Given the description of an element on the screen output the (x, y) to click on. 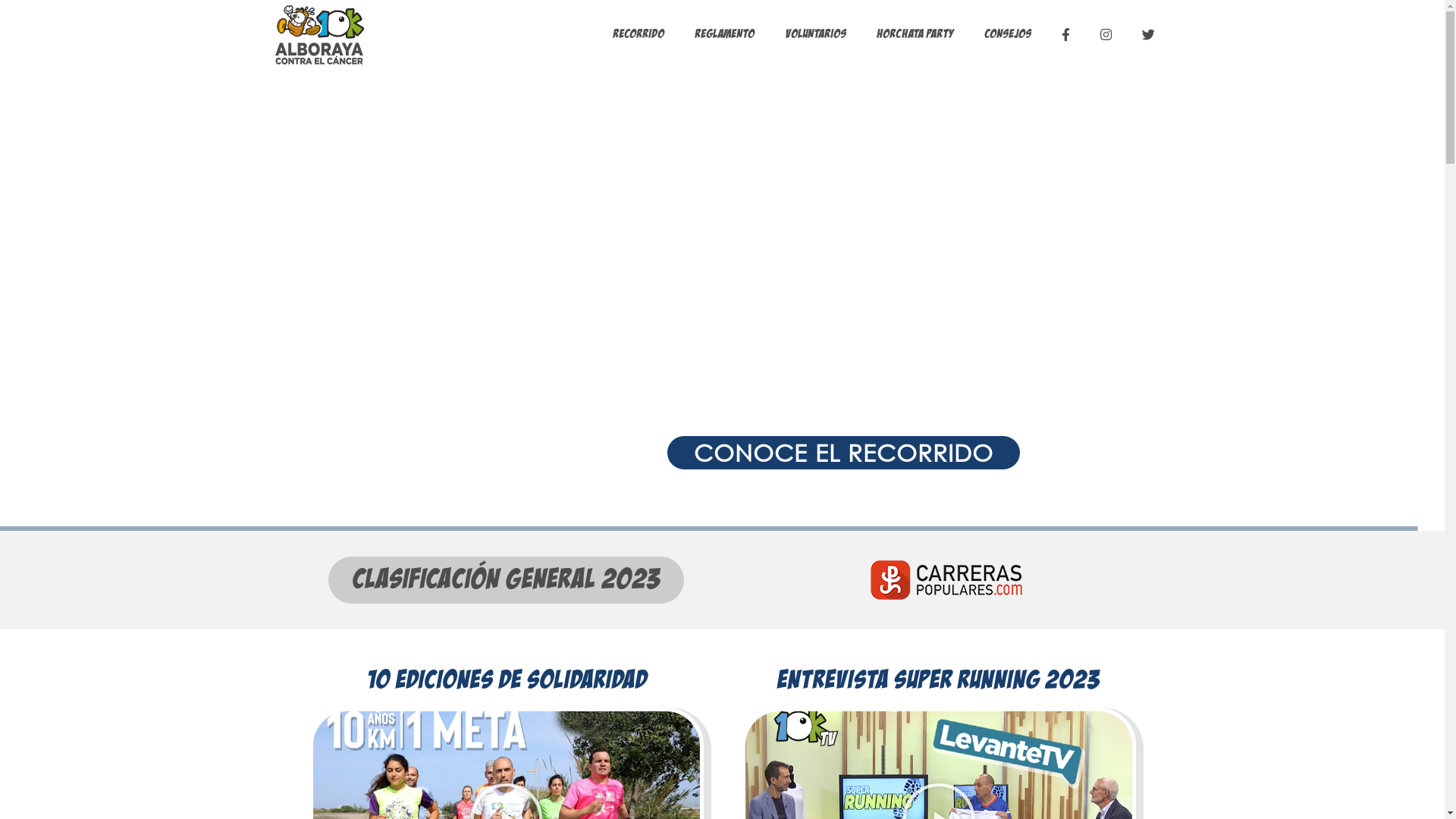
HORCHATA PARTY Element type: text (915, 33)
CONSEJOS Element type: text (1007, 33)
VOLUNTARIOS Element type: text (814, 33)
REGLAMENTO Element type: text (724, 33)
RECORRIDO Element type: text (638, 33)
